Given the description of an element on the screen output the (x, y) to click on. 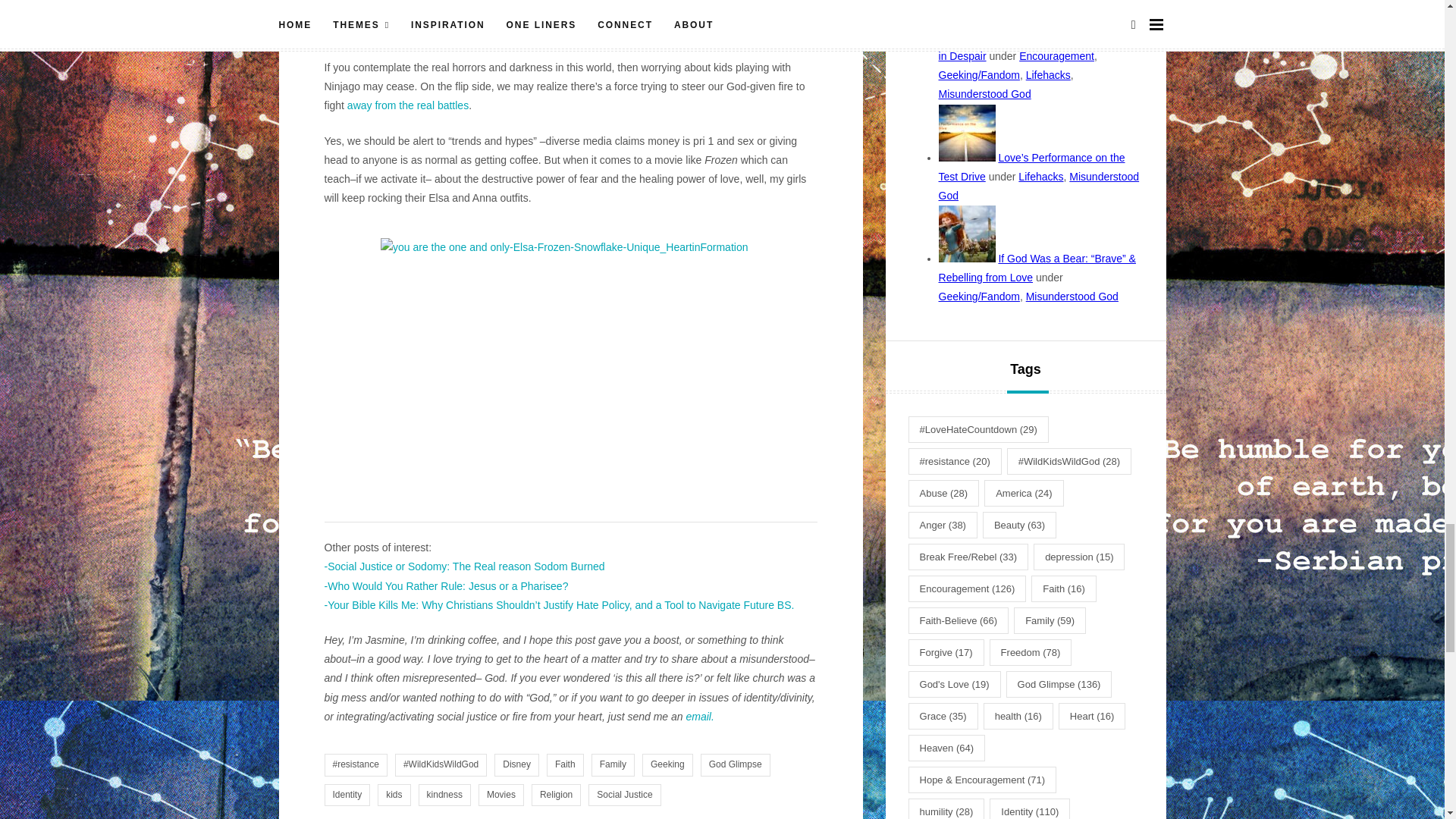
-Who Would You Rather Rule: Jesus or a Pharisee? (446, 585)
Disney (516, 764)
email. (699, 716)
away from the real battles (407, 105)
Geeking (667, 764)
Family (612, 764)
-Social Justice or Sodomy: The Real reason Sodom Burned (464, 566)
Faith (565, 764)
